Given the description of an element on the screen output the (x, y) to click on. 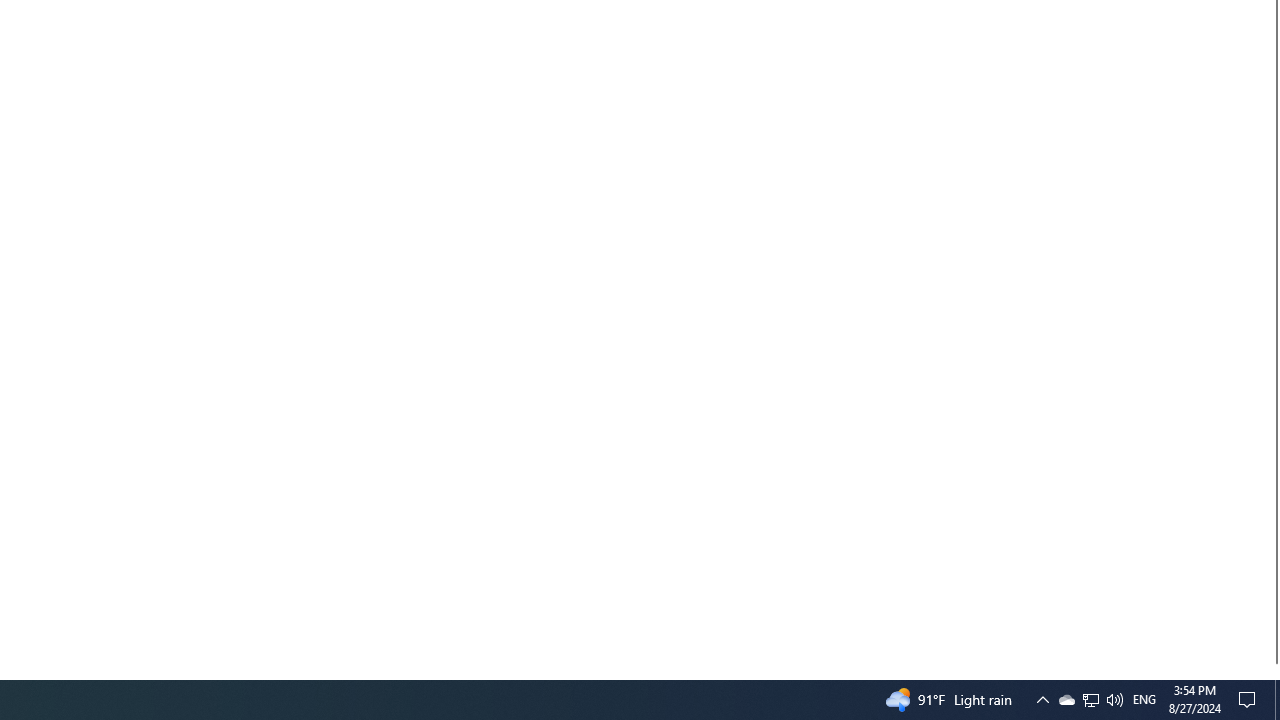
Vertical Small Increase (1272, 671)
Tray Input Indicator - English (United States) (1144, 699)
